Given the description of an element on the screen output the (x, y) to click on. 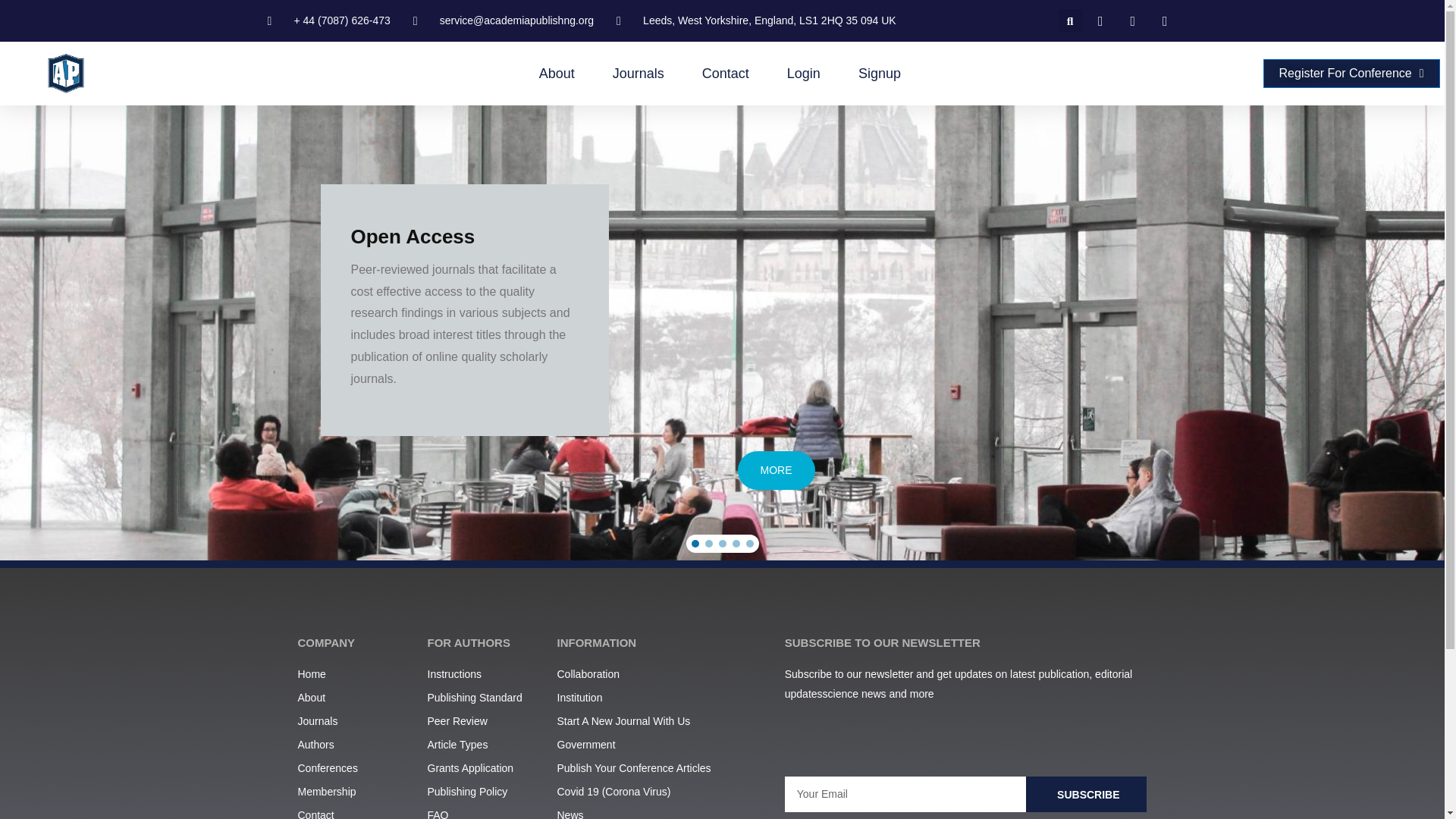
Authors (354, 745)
Instructions (484, 674)
MORE (774, 470)
Contact (354, 812)
Publishing Standard (484, 698)
Membership (354, 792)
Login (804, 73)
Signup (880, 73)
Conferences (354, 768)
About (354, 698)
